Given the description of an element on the screen output the (x, y) to click on. 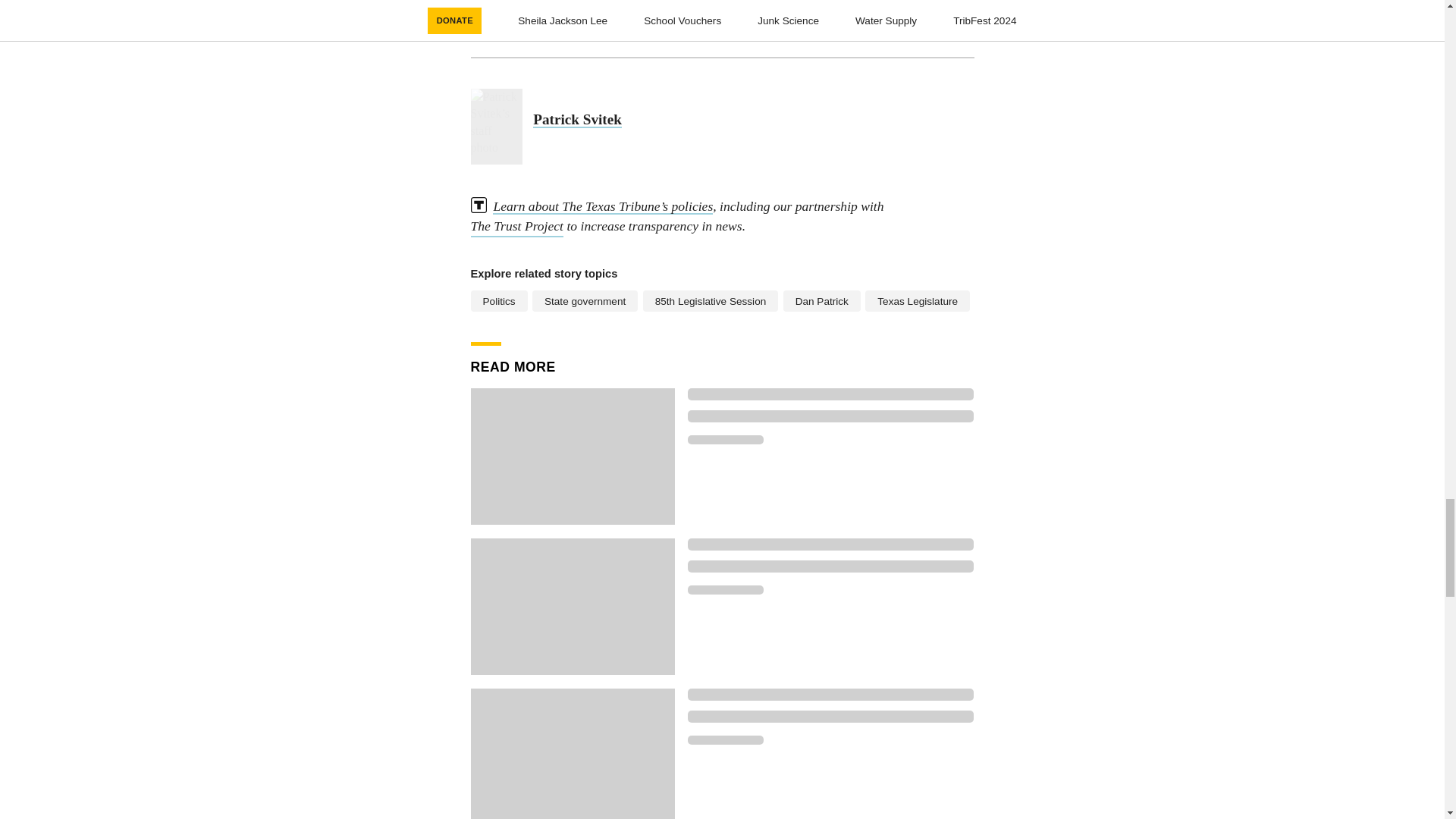
Loading indicator (830, 566)
Loading indicator (724, 439)
Loading indicator (830, 394)
Loading indicator (830, 716)
Loading indicator (724, 589)
Loading indicator (724, 739)
Loading indicator (830, 544)
Loading indicator (830, 694)
Loading indicator (830, 416)
